Given the description of an element on the screen output the (x, y) to click on. 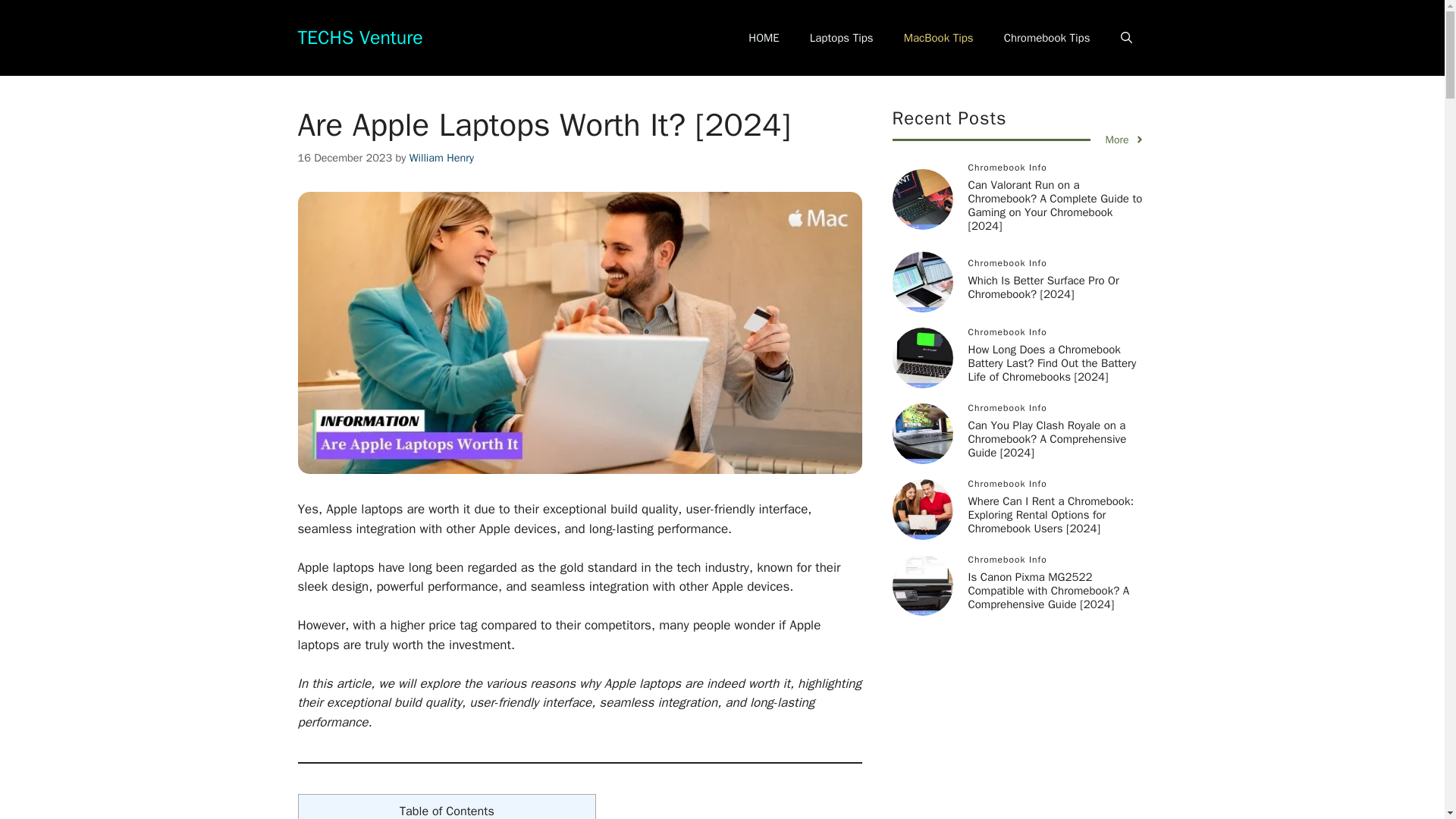
View all posts by William Henry (441, 157)
Laptops Tips (841, 37)
TECHS Venture (359, 37)
MacBook Tips (938, 37)
HOME (763, 37)
Chromebook Tips (1046, 37)
William Henry (441, 157)
